Given the description of an element on the screen output the (x, y) to click on. 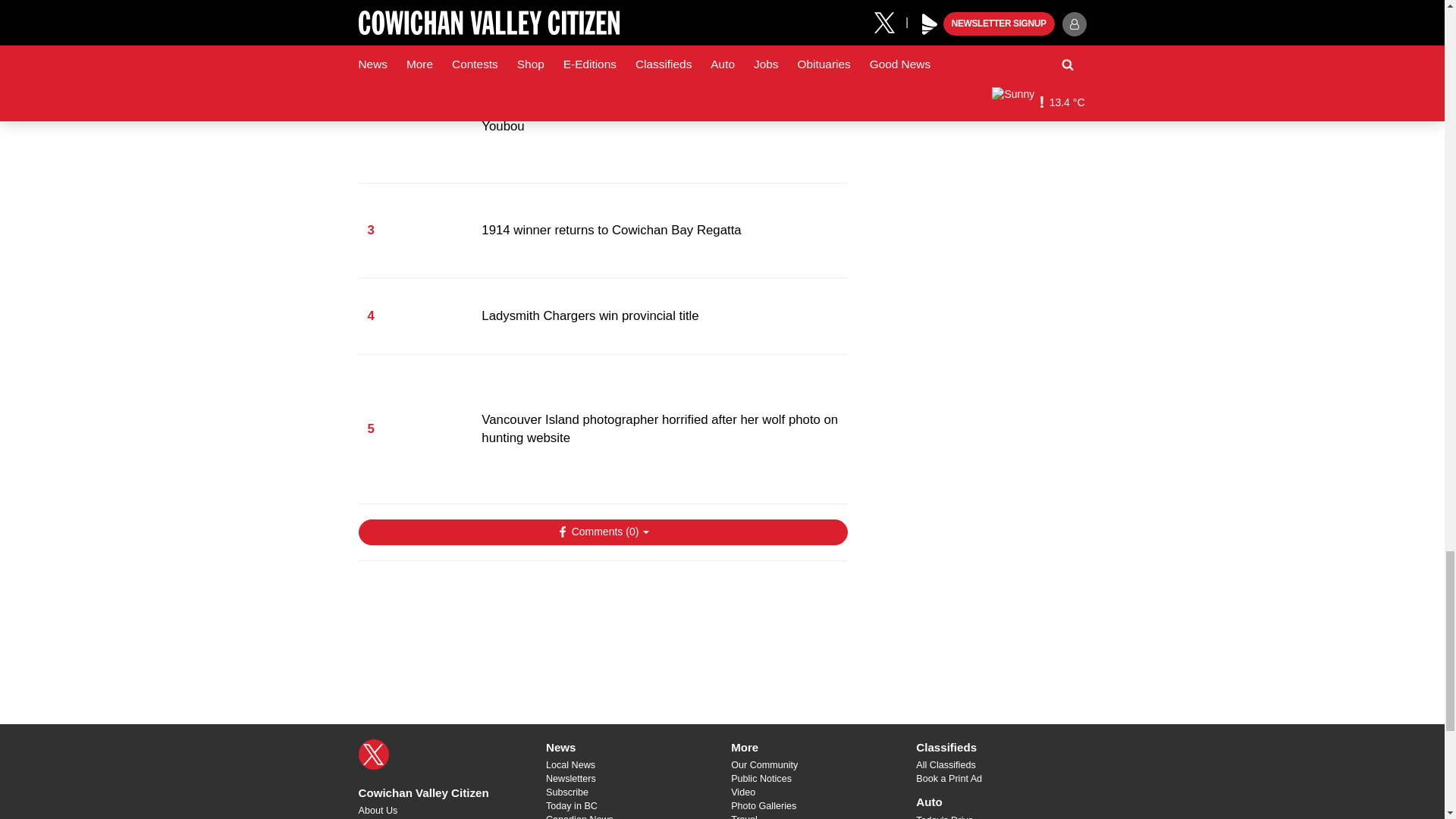
X (373, 754)
Show Comments (602, 532)
